Given the description of an element on the screen output the (x, y) to click on. 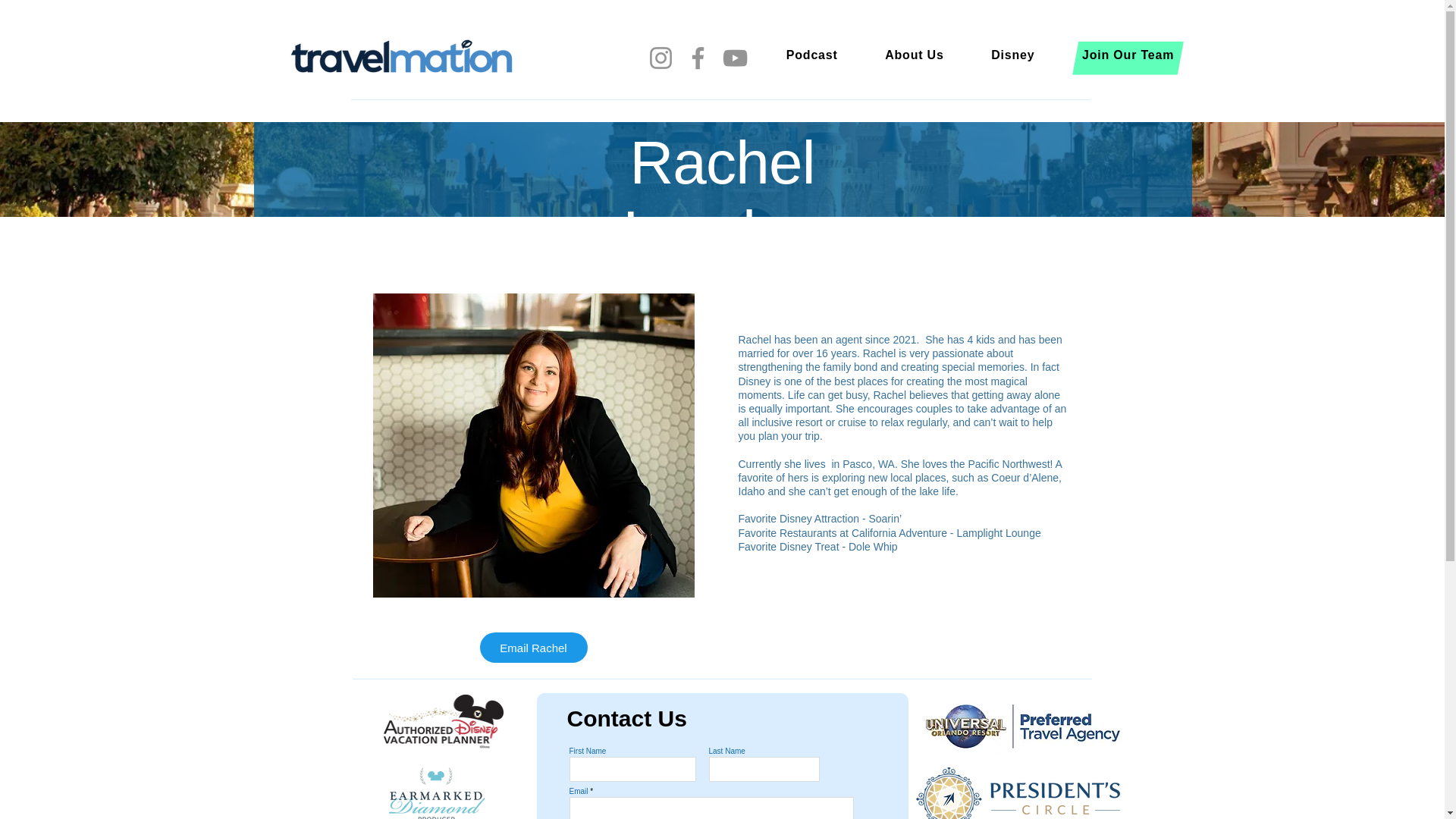
Email Rachel (532, 647)
About Us (914, 54)
Podcast (812, 54)
Join Our Team (1127, 54)
